Given the description of an element on the screen output the (x, y) to click on. 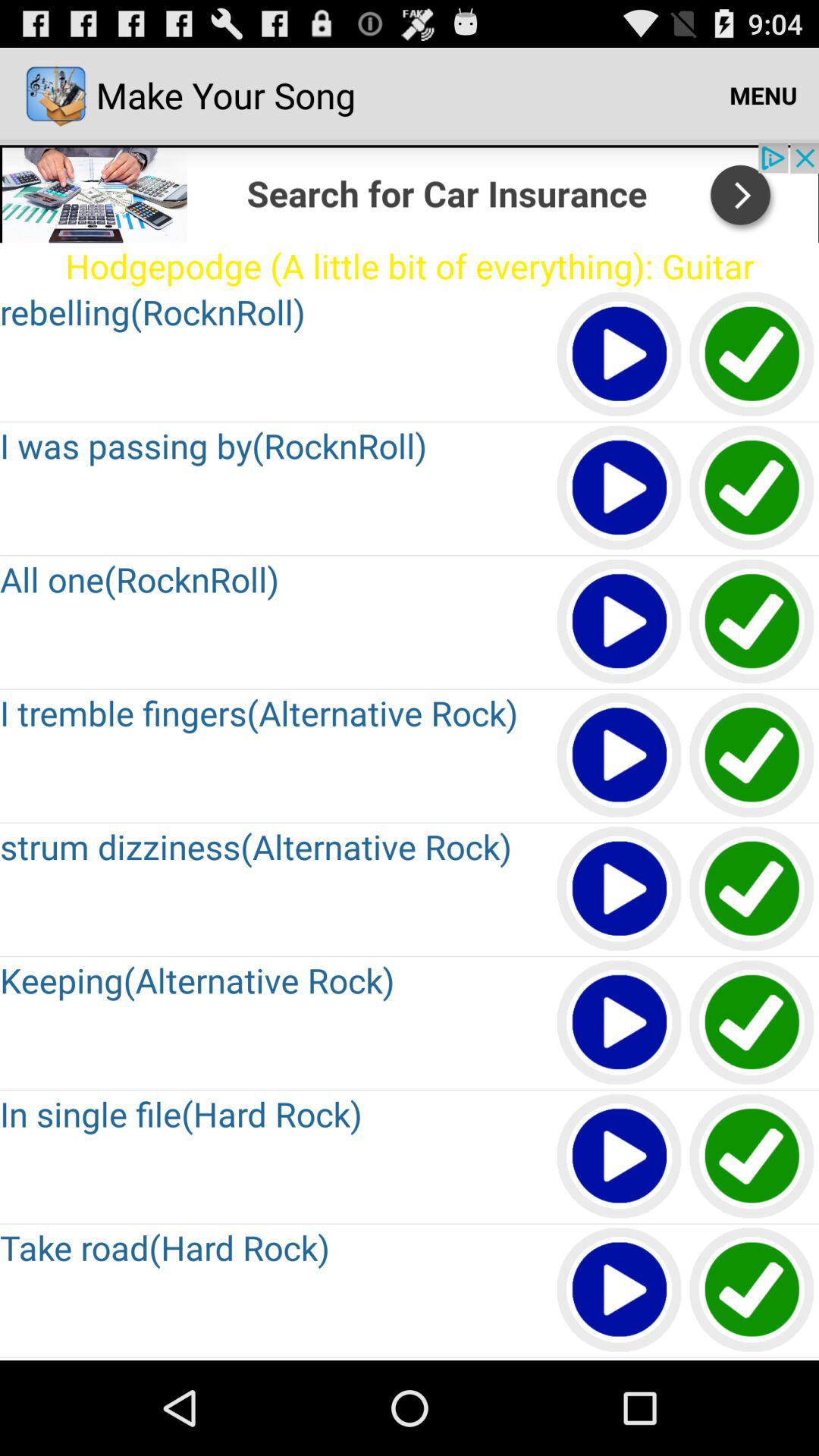
create save your song (752, 1156)
